Given the description of an element on the screen output the (x, y) to click on. 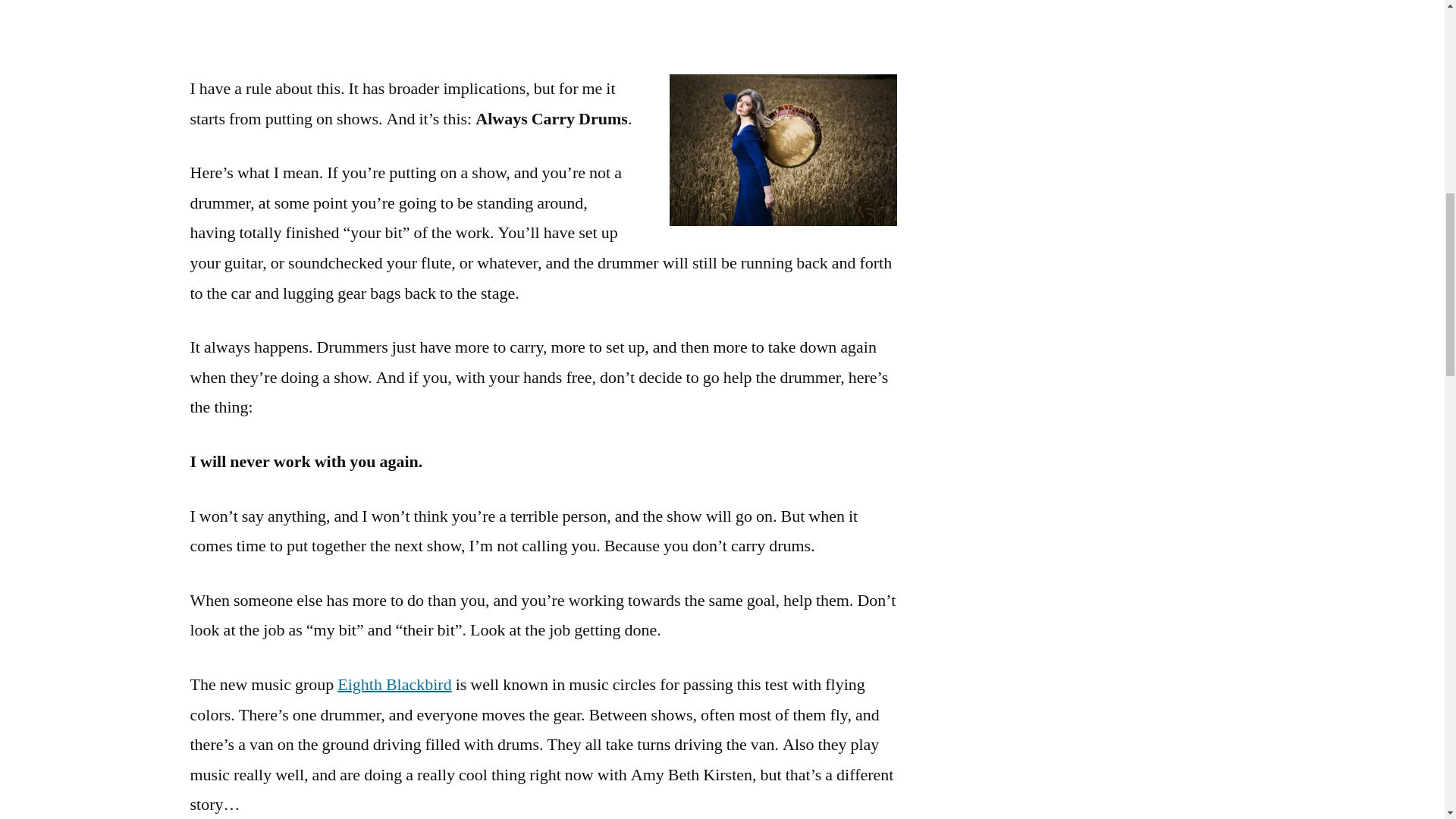
Eighth Blackbird (394, 684)
Glennie-carrying-drum-flipped (782, 150)
